Given the description of an element on the screen output the (x, y) to click on. 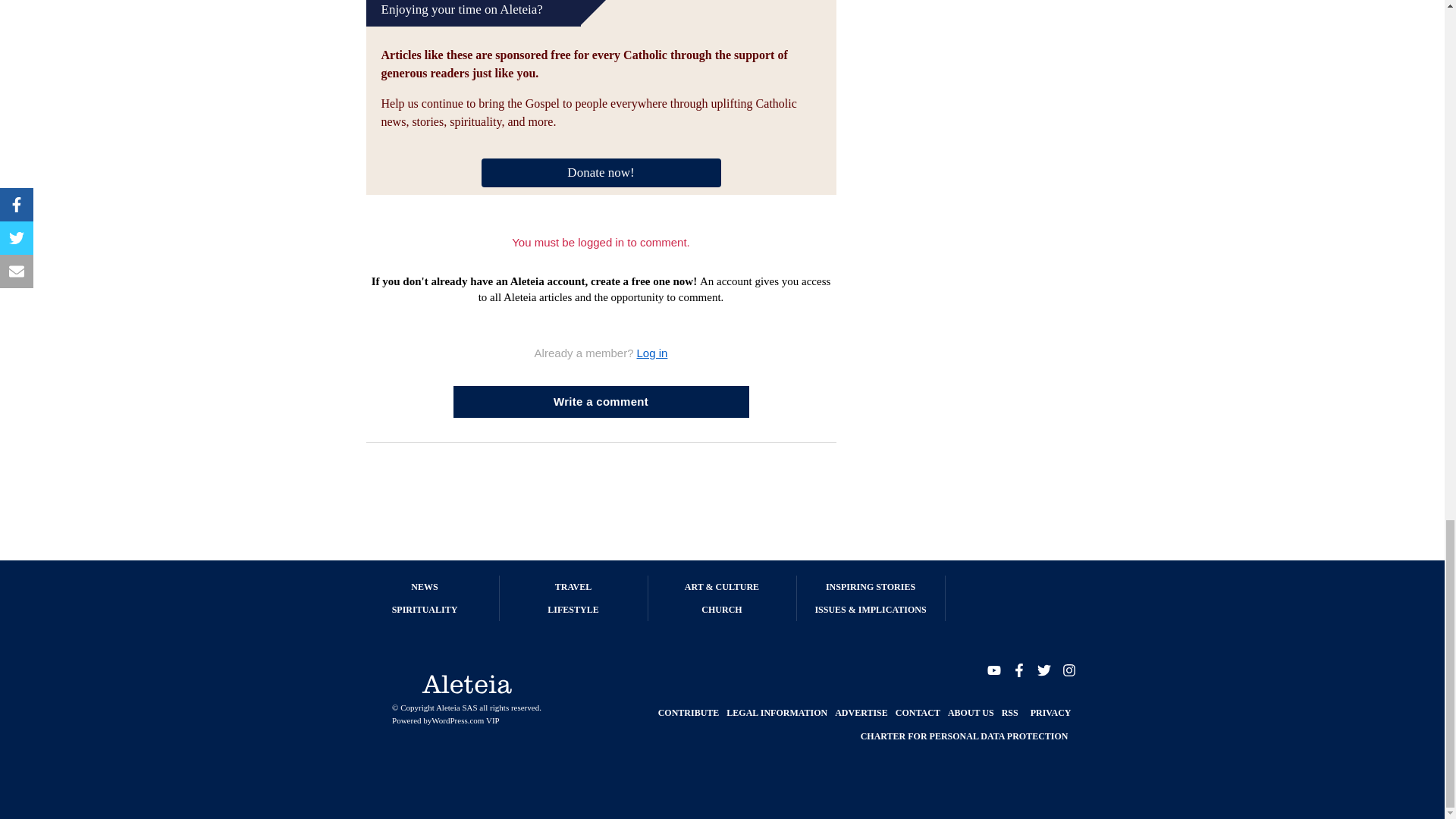
social-ig-footer (1068, 669)
social-yt-footer (994, 669)
social-fb-footer (1018, 669)
